Given the description of an element on the screen output the (x, y) to click on. 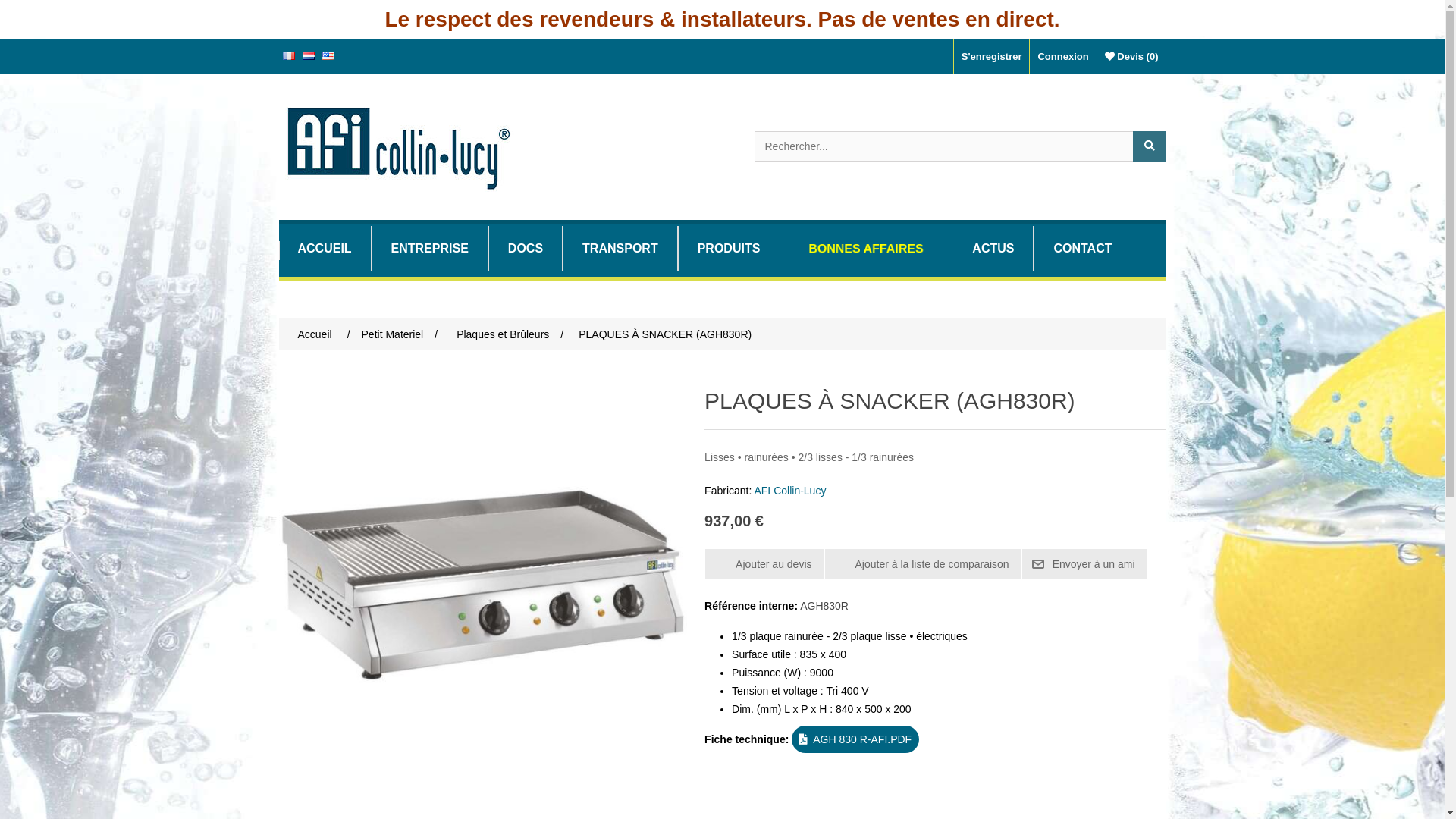
Devis (0) Element type: text (1131, 56)
BONNES AFFAIRES Element type: text (865, 248)
Nederlands Element type: hover (307, 55)
English Element type: hover (327, 55)
CONTACT Element type: text (1082, 248)
AFI Collin-Lucy Element type: text (789, 490)
Ajouter au devis Element type: text (763, 564)
S'enregistrer Element type: text (991, 56)
DOCS Element type: text (525, 248)
Nederlands Element type: hover (307, 55)
Petit Materiel Element type: text (392, 334)
ACTUS Element type: text (992, 248)
ACCUEIL Element type: text (324, 248)
Accueil Element type: text (314, 334)
  AGH 830 R-AFI.PDF Element type: text (855, 739)
English Element type: hover (327, 55)
Connexion Element type: text (1062, 56)
TRANSPORT Element type: text (620, 248)
